Given the description of an element on the screen output the (x, y) to click on. 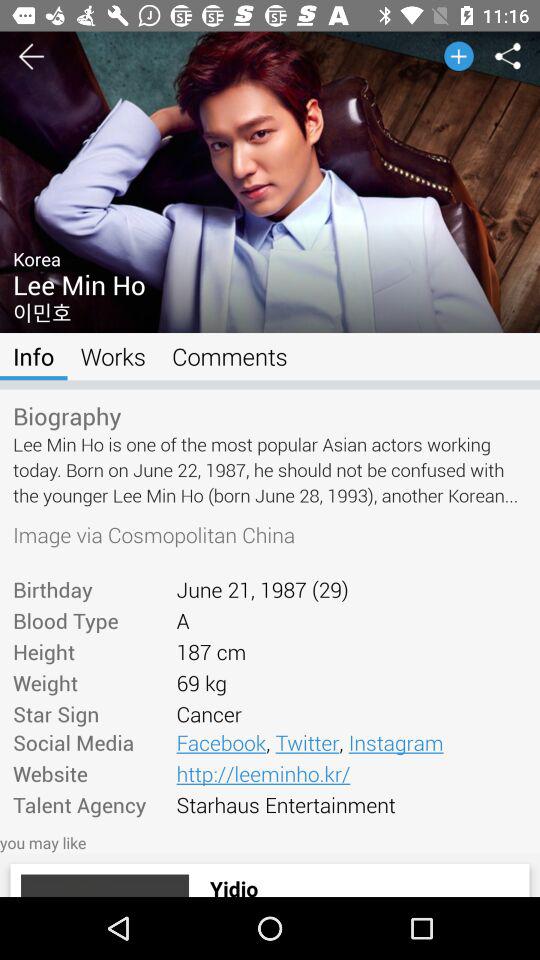
press icon to the right of star sign icon (351, 742)
